Given the description of an element on the screen output the (x, y) to click on. 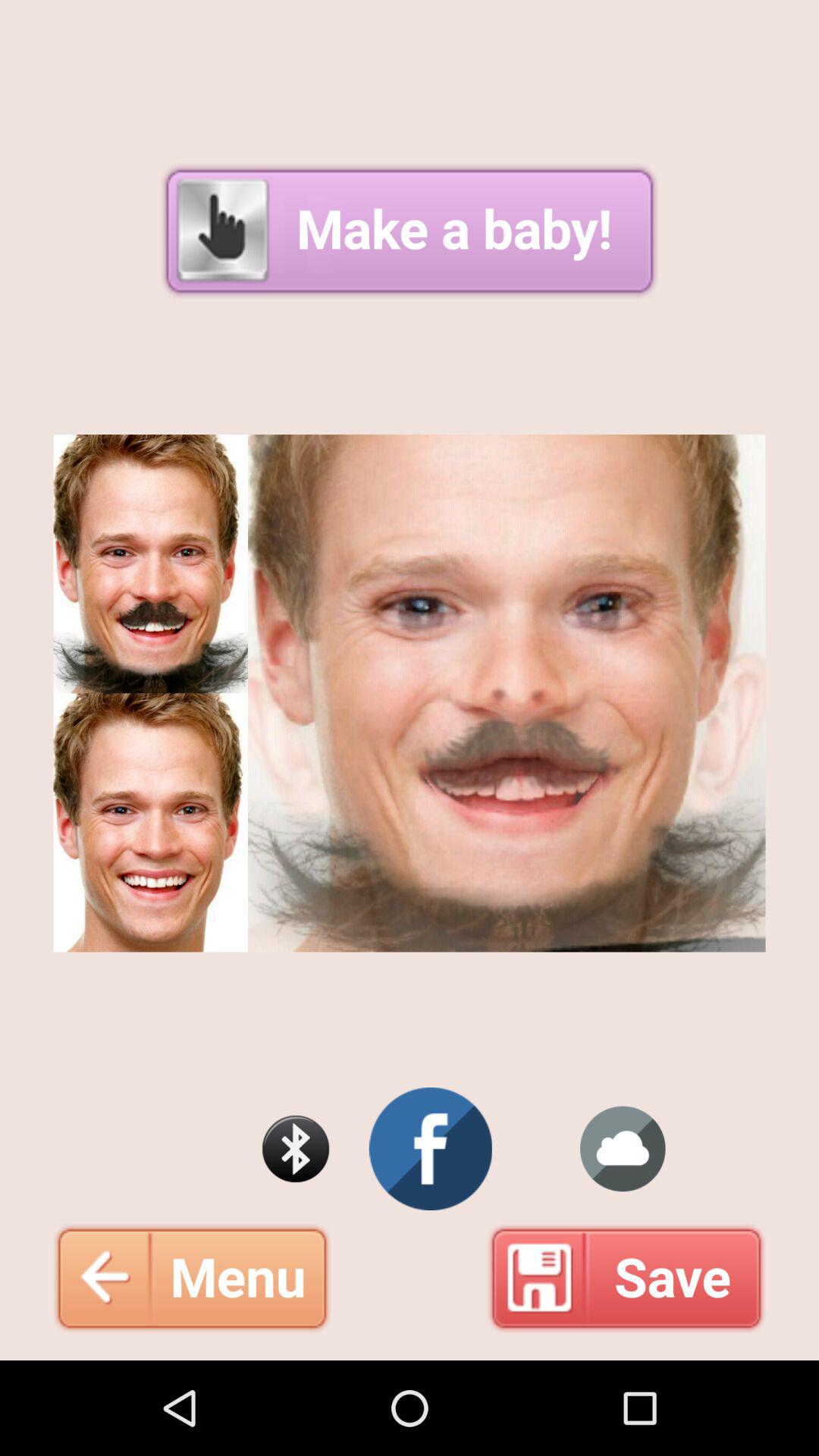
flip until menu icon (192, 1278)
